Given the description of an element on the screen output the (x, y) to click on. 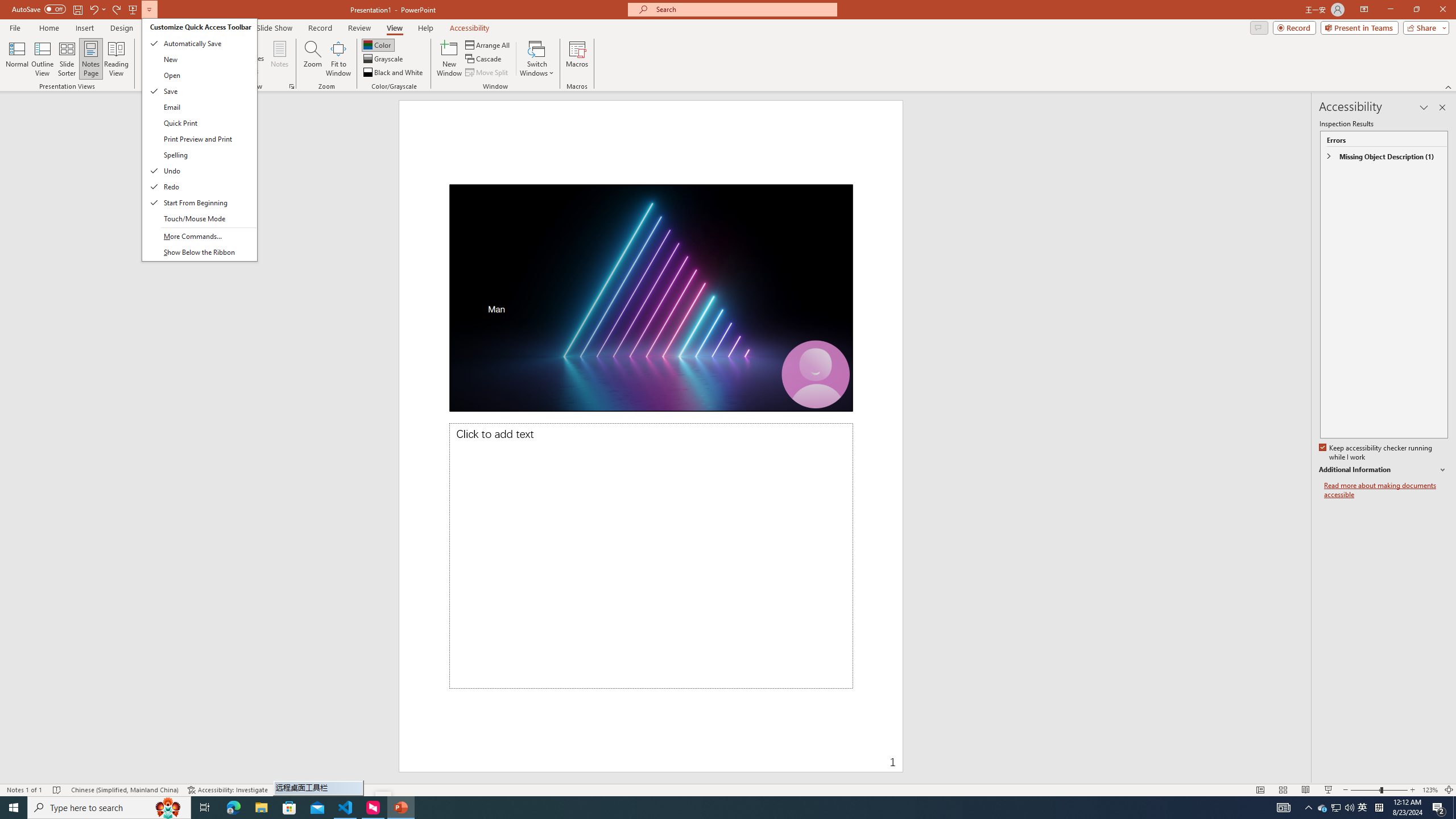
Outline View (42, 58)
Black and White (1322, 807)
PowerPoint - 1 running window (393, 72)
Additional Information (400, 807)
